Given the description of an element on the screen output the (x, y) to click on. 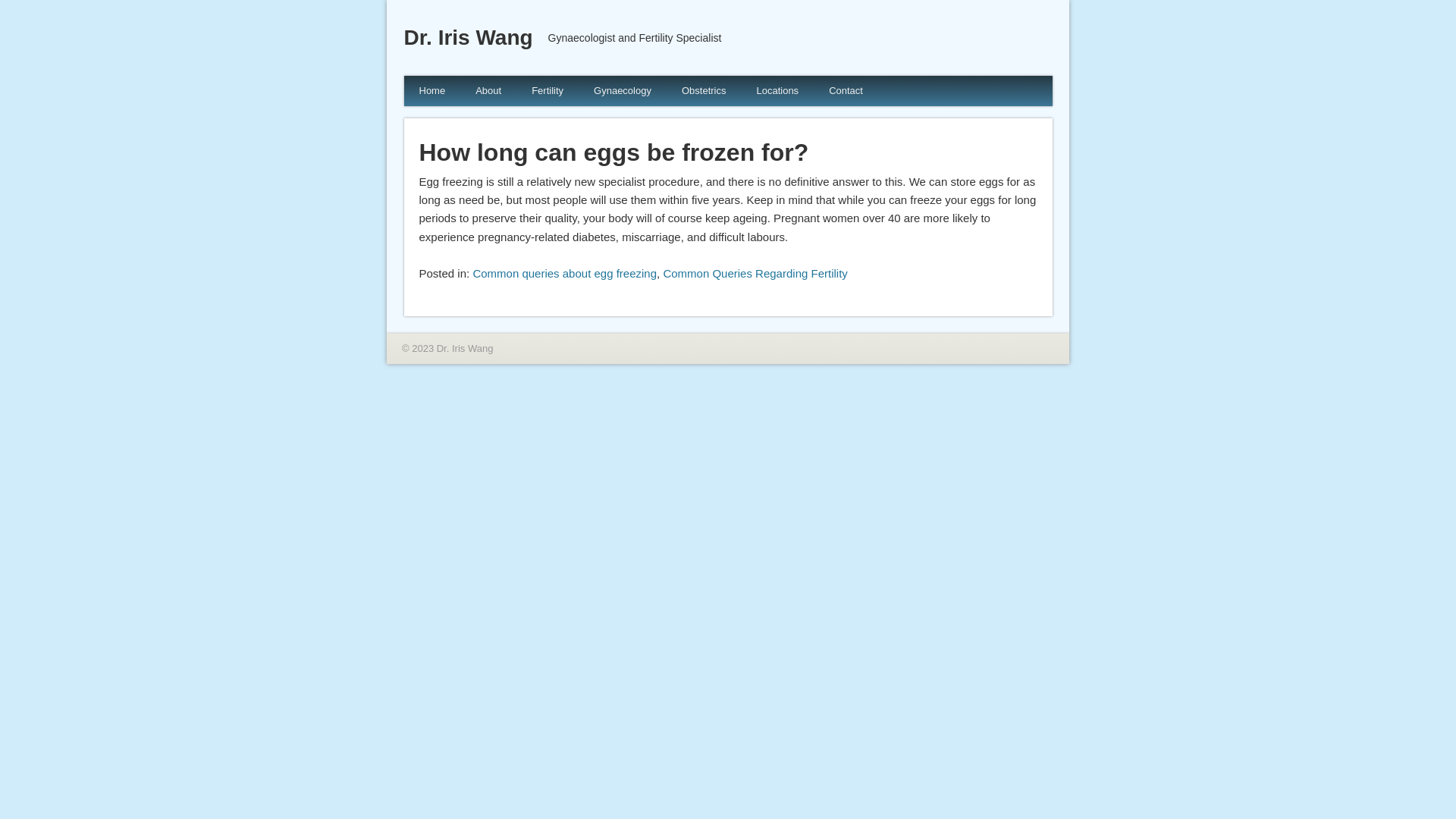
Obstetrics Element type: text (703, 90)
Locations Element type: text (776, 90)
Home Element type: text (431, 90)
Contact Element type: text (845, 90)
Common queries about egg freezing Element type: text (564, 272)
About Element type: text (488, 90)
Gynaecology Element type: text (622, 90)
Common Queries Regarding Fertility Element type: text (754, 272)
Dr. Iris Wang Element type: text (467, 37)
Fertility Element type: text (547, 90)
